Given the description of an element on the screen output the (x, y) to click on. 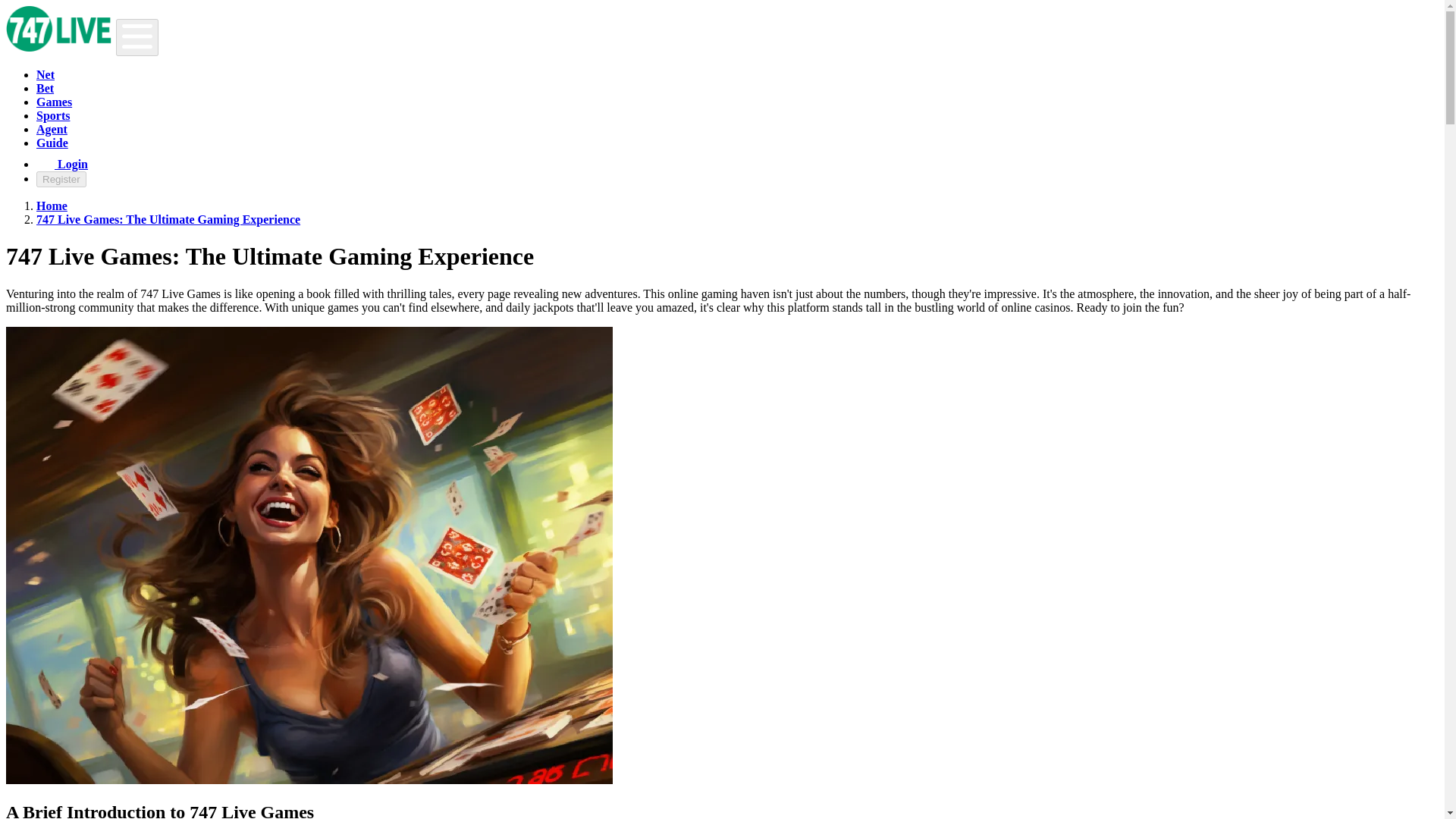
Agent (51, 128)
Login (61, 164)
Games (53, 101)
Bet (44, 88)
747 Live Games: The Ultimate Gaming Experience (167, 219)
747 Live (51, 205)
Home (51, 205)
Register (60, 179)
747 Live Games: The Ultimate Gaming Experience (167, 219)
Net (45, 74)
